Given the description of an element on the screen output the (x, y) to click on. 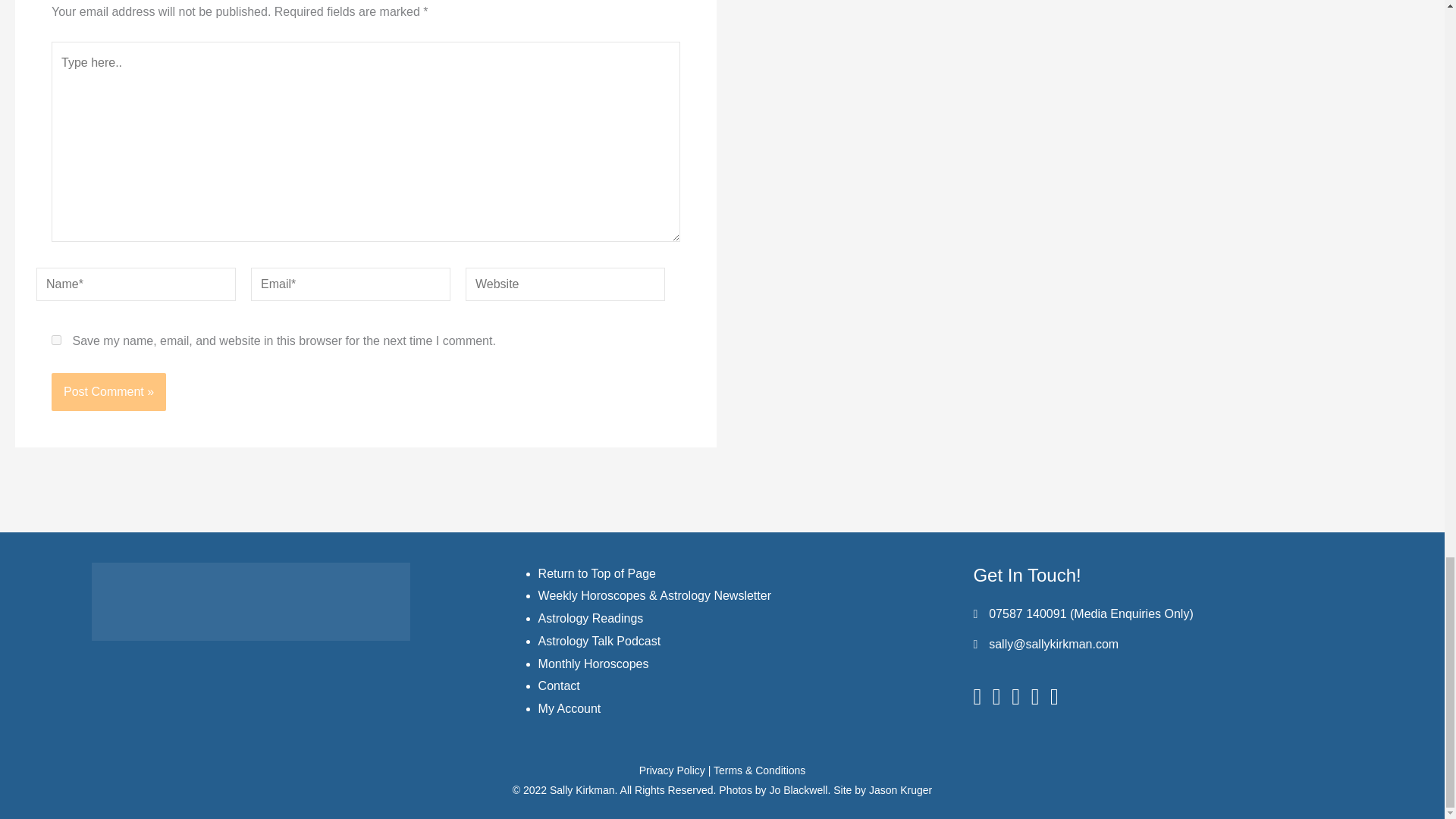
yes (55, 339)
SALLY KIRKMAN ASTROLOGER WHITE (250, 601)
